Given the description of an element on the screen output the (x, y) to click on. 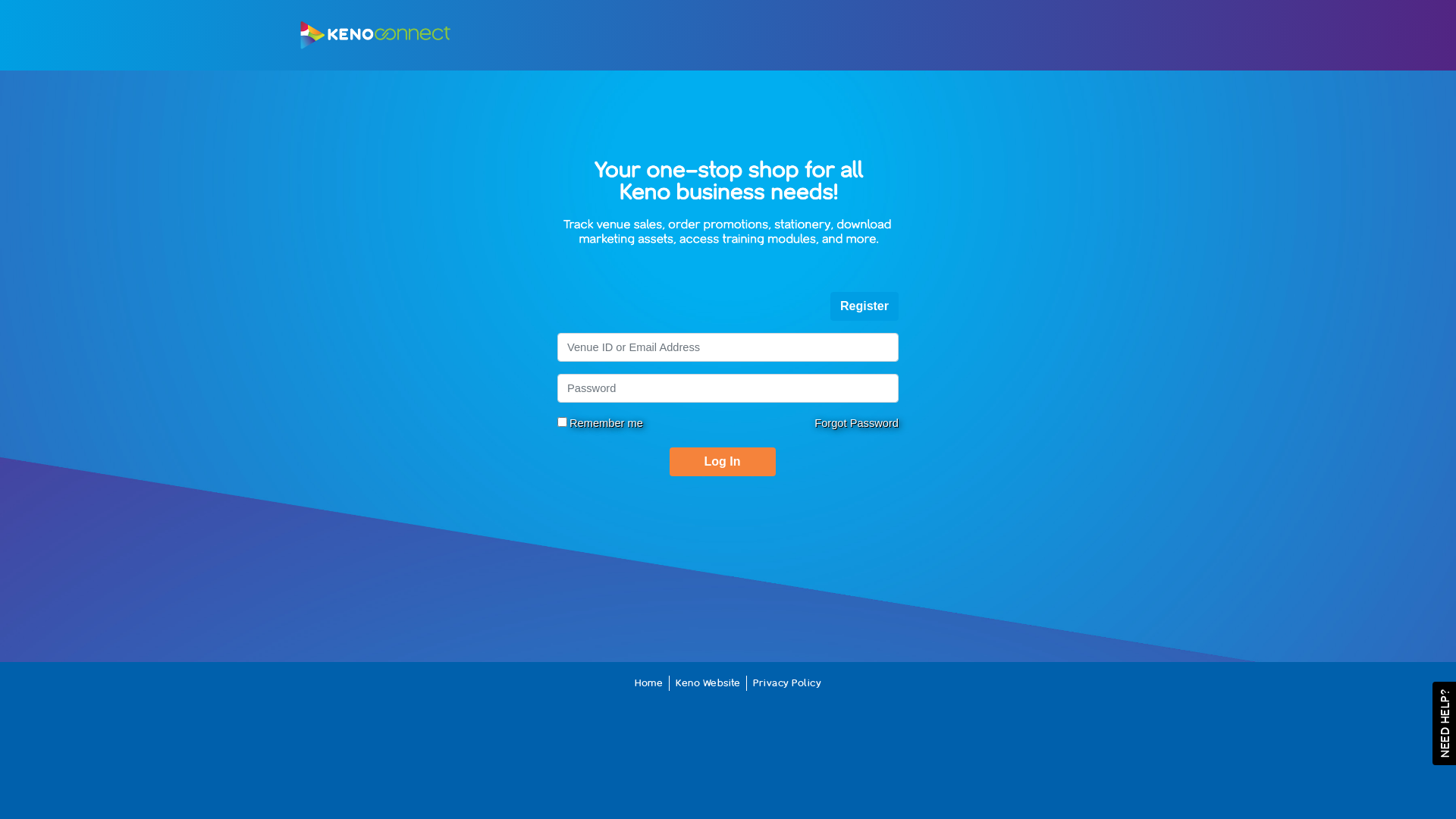
Register Element type: text (864, 305)
Keno Website Element type: text (707, 682)
Privacy Policy Element type: text (787, 682)
Log In Element type: text (721, 461)
Home Element type: text (648, 682)
Forgot Password Element type: text (856, 422)
